Given the description of an element on the screen output the (x, y) to click on. 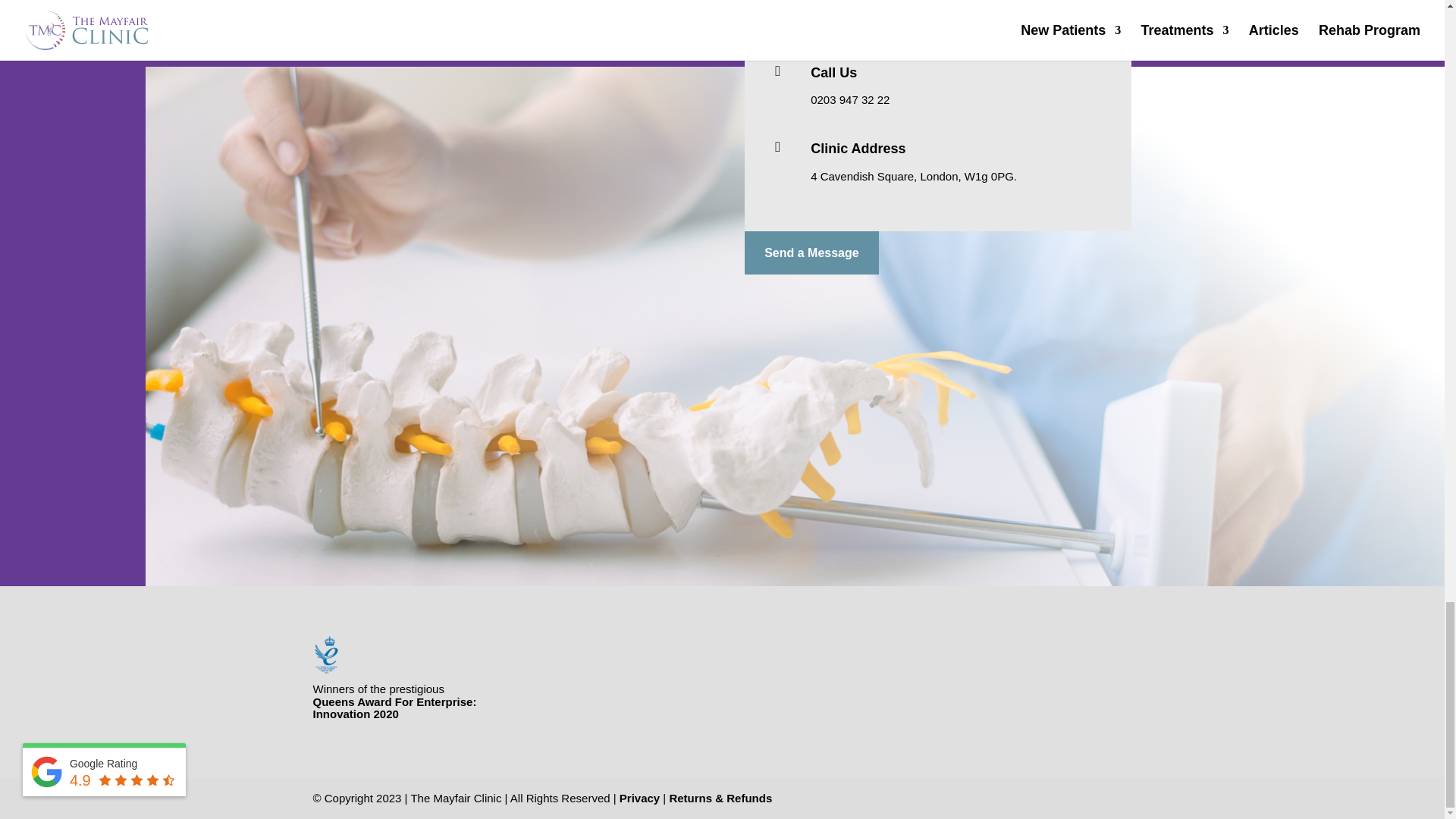
Privacy (639, 797)
Send a Message (811, 252)
